Given the description of an element on the screen output the (x, y) to click on. 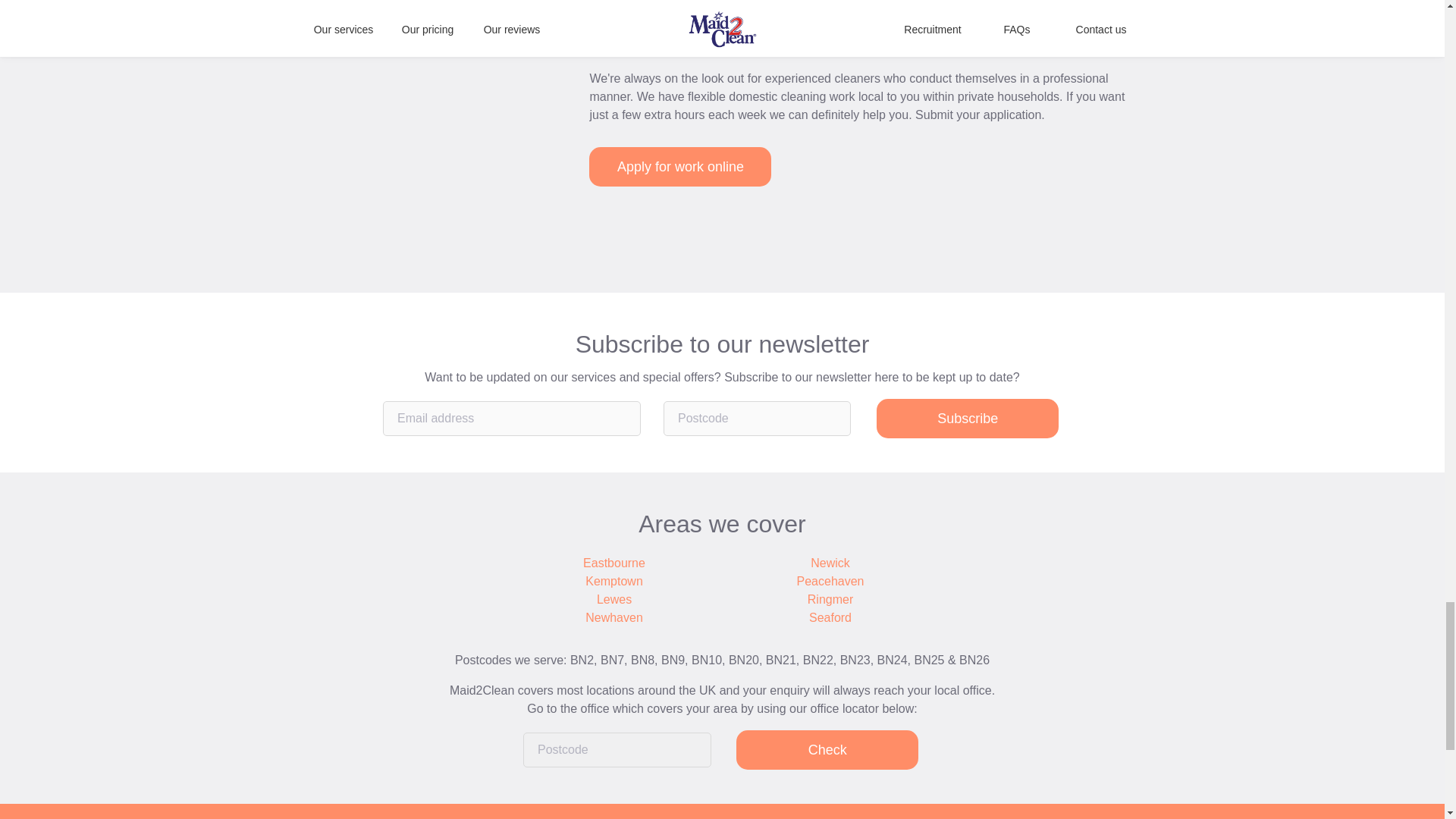
Peacehaven (830, 581)
Kemptown (614, 581)
Ringmer (830, 599)
Apply for work online (680, 166)
Newhaven (614, 618)
Eastbourne (614, 563)
Seaford (830, 618)
Check (827, 749)
Subscribe (967, 418)
Lewes (613, 599)
Newick (830, 563)
